Given the description of an element on the screen output the (x, y) to click on. 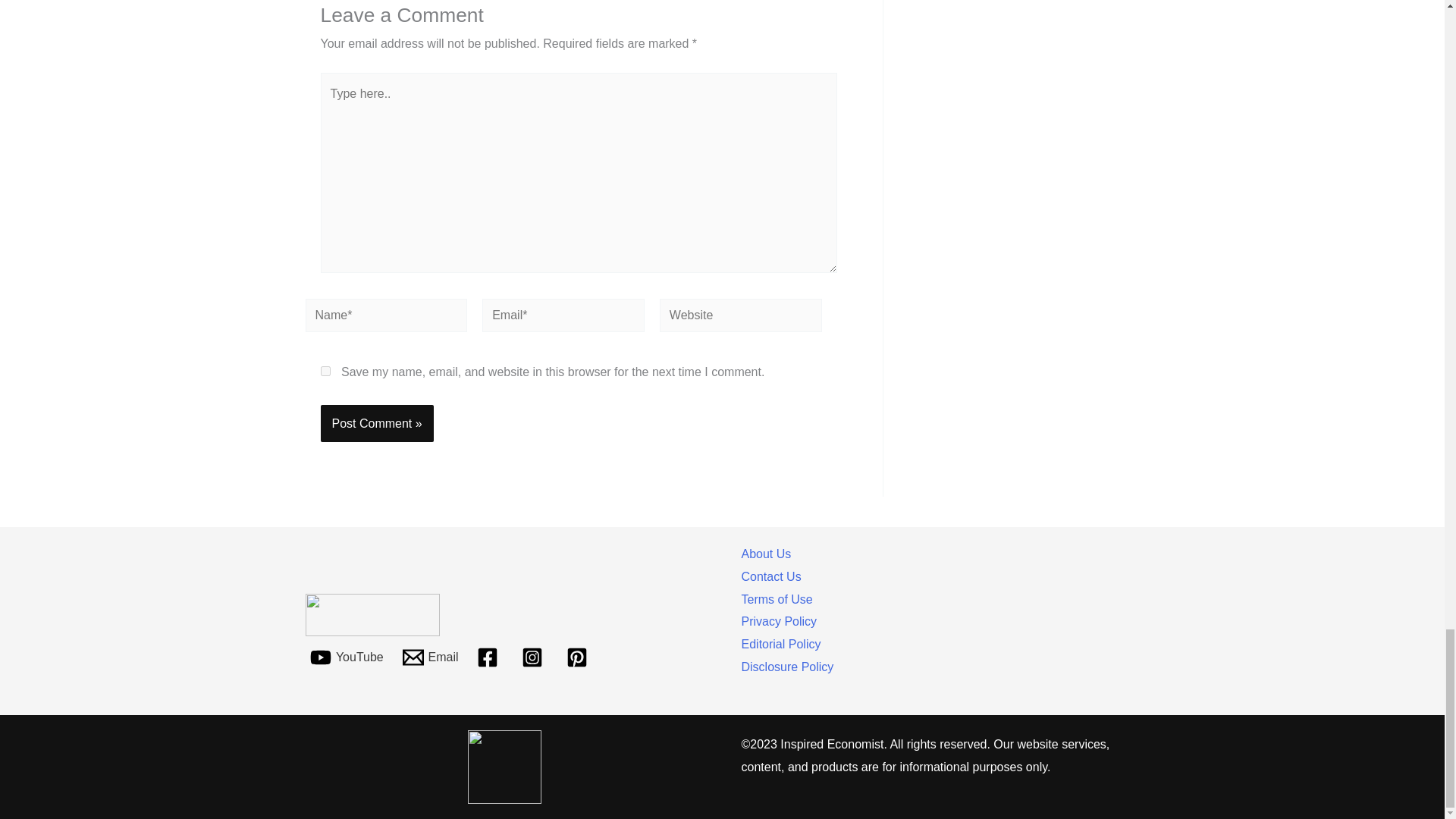
yes (325, 370)
